Given the description of an element on the screen output the (x, y) to click on. 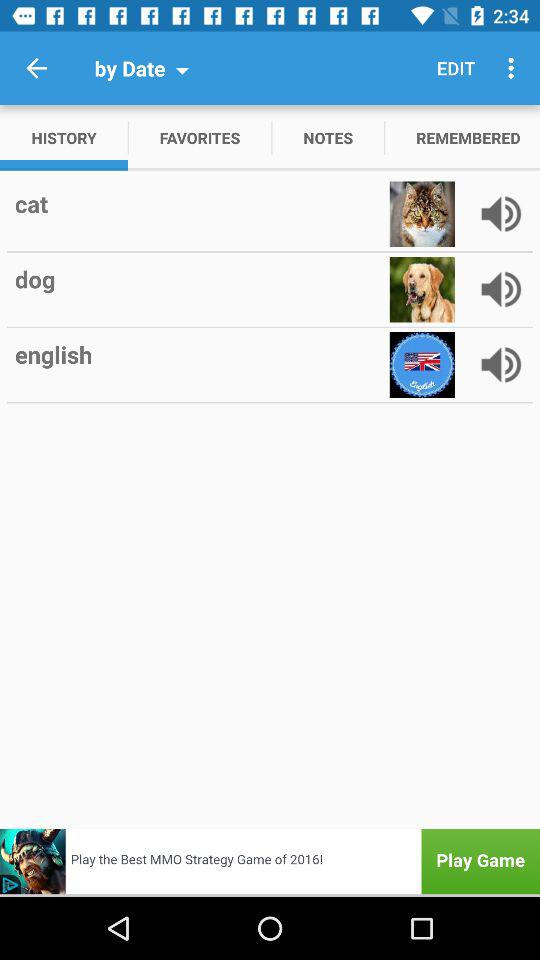
press icon to the left of remembered item (327, 137)
